Given the description of an element on the screen output the (x, y) to click on. 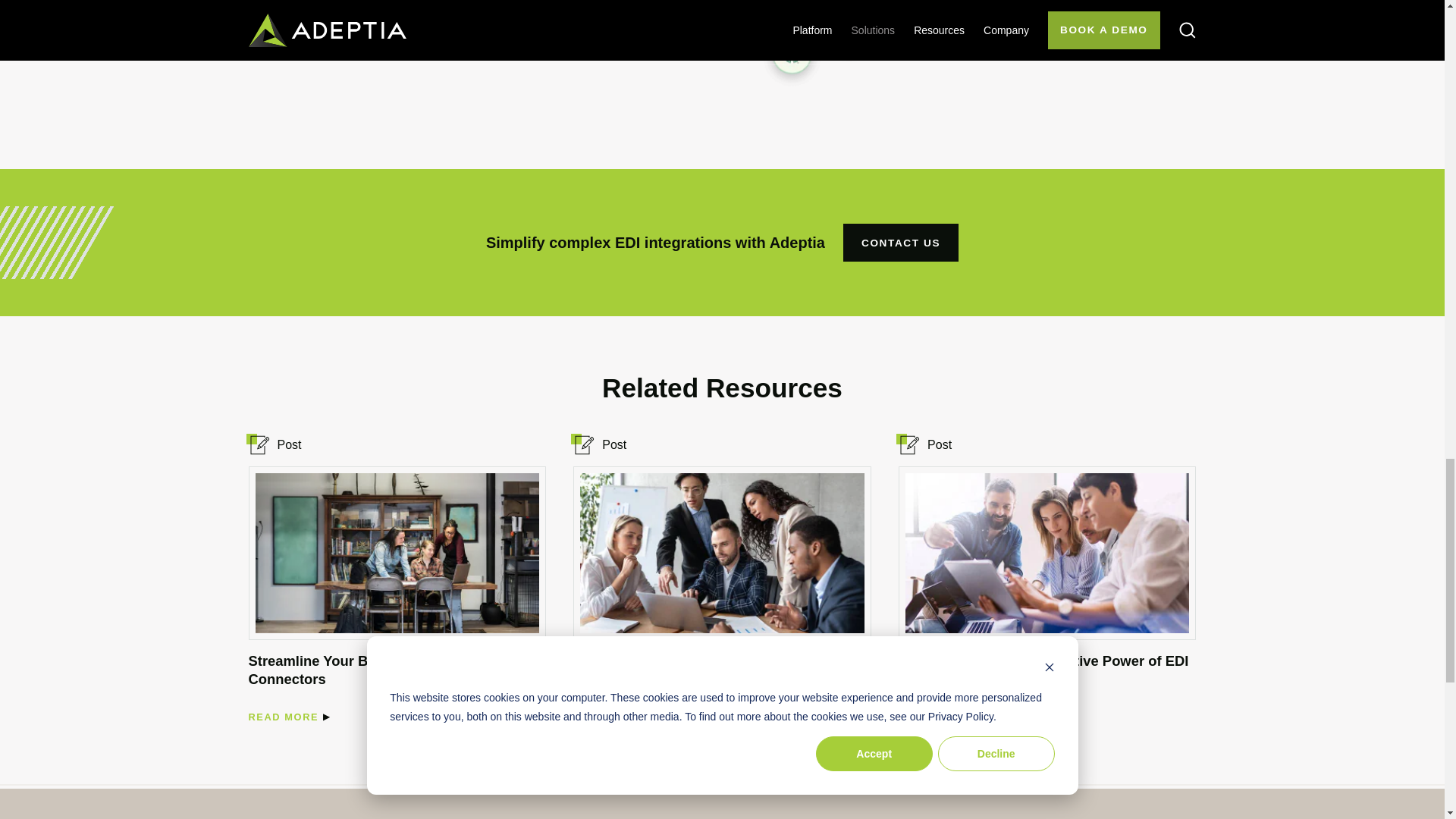
Streamline Your Business Process with EDI Connectors (392, 669)
Contact Adeptia to improve your EDI processes (900, 242)
Solve EDI Challenges with Self-service Data Integration (608, 717)
Solve EDI Challenges with Self-service Data Integration (721, 553)
Read More about API integration (283, 16)
Streamline Your Business Process with EDI Connectors (396, 553)
Streamline Your Business Process with EDI Connectors (283, 717)
Solve EDI Challenges with Self-service Data Integration (718, 669)
